Given the description of an element on the screen output the (x, y) to click on. 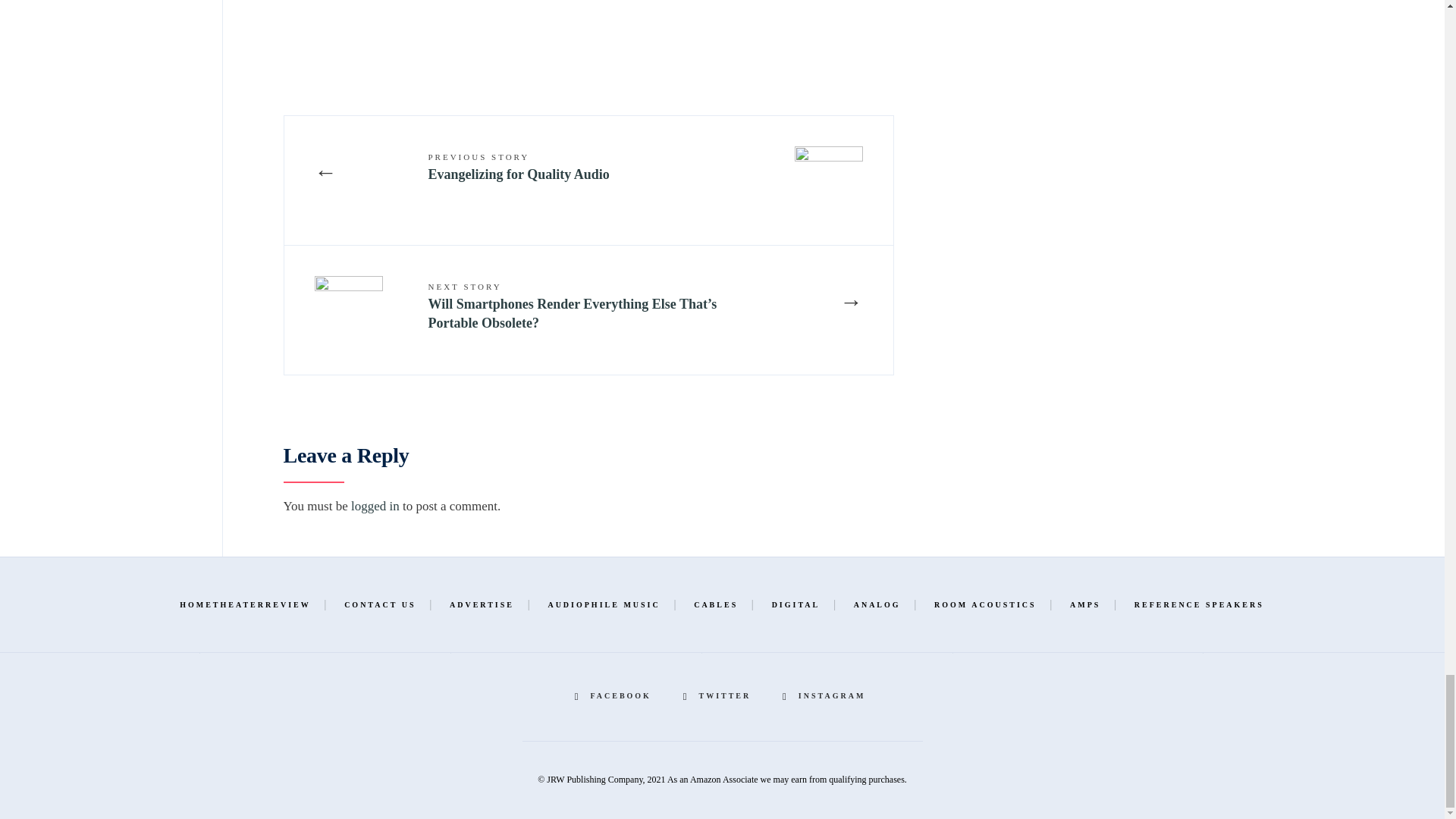
Instagram (826, 695)
Facebook (615, 695)
Twitter (719, 695)
